Given the description of an element on the screen output the (x, y) to click on. 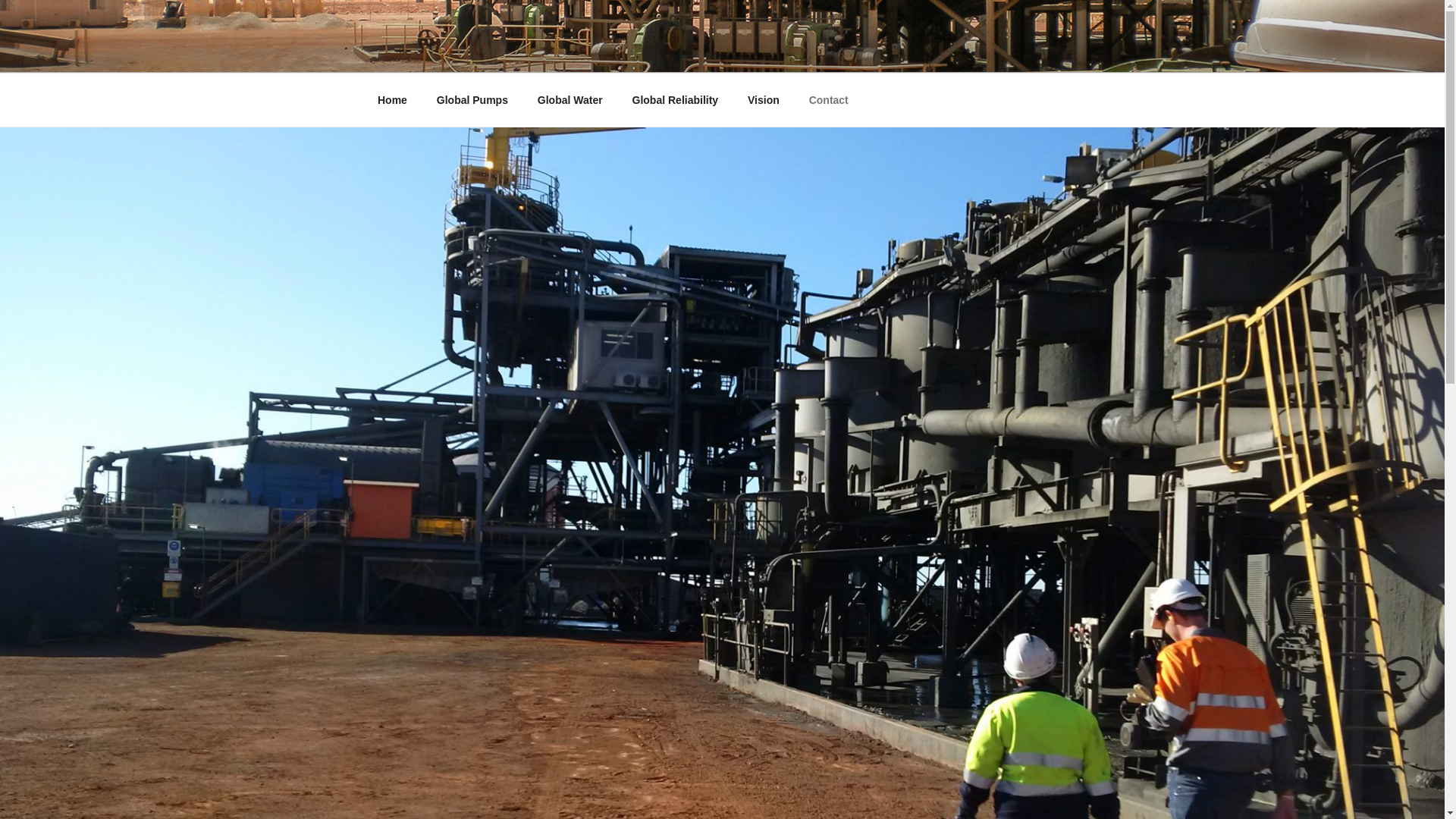
Global Pumps Element type: text (471, 100)
Global Water Element type: text (569, 100)
Global Reliability Element type: text (674, 100)
Home Element type: text (392, 100)
Contact Element type: text (828, 100)
GLOBAL GROUP OF COMPANIES Element type: text (625, 53)
Vision Element type: text (763, 100)
